Given the description of an element on the screen output the (x, y) to click on. 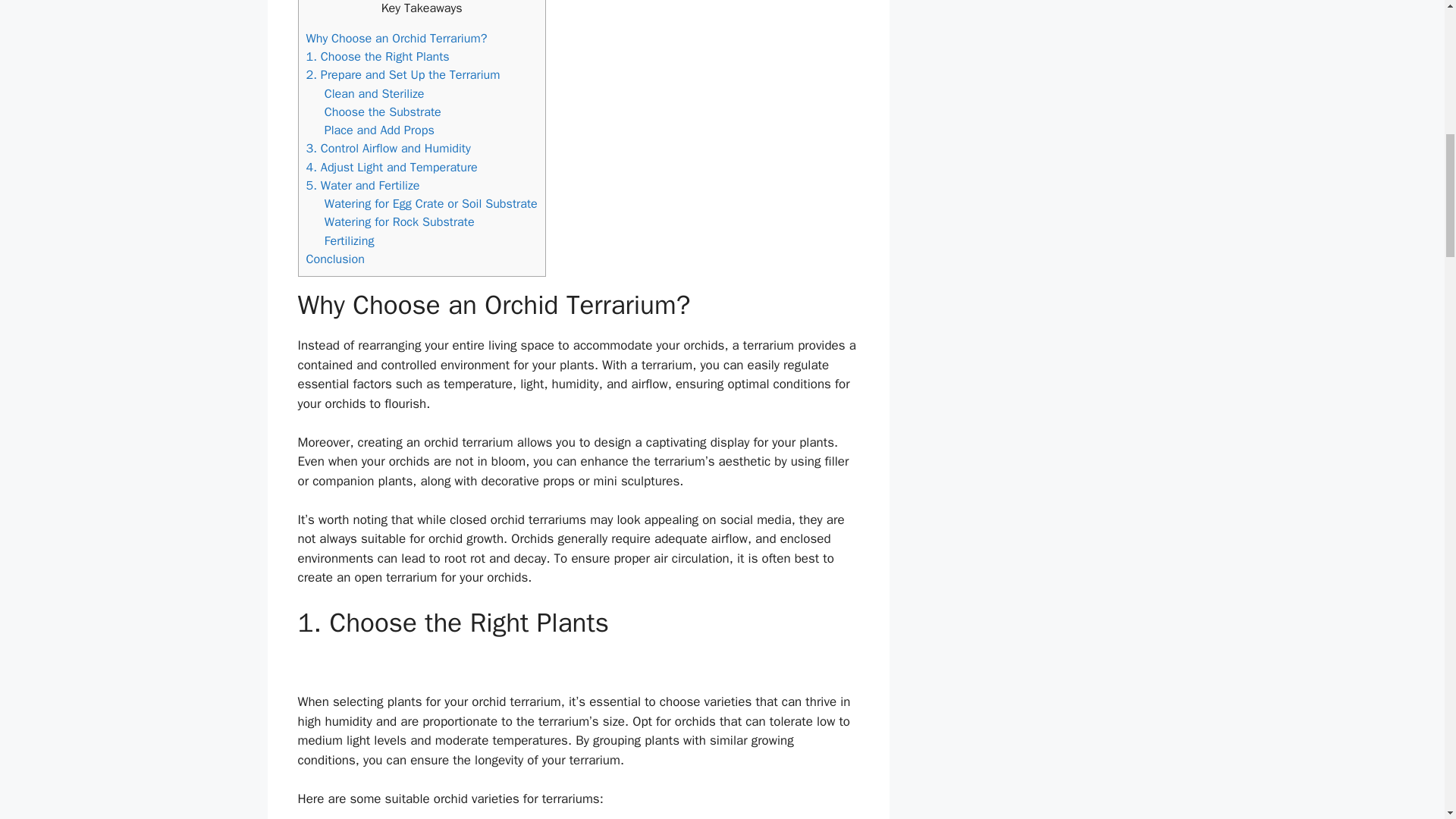
Watering for Rock Substrate (399, 221)
3. Control Airflow and Humidity (387, 148)
Watering for Egg Crate or Soil Substrate (430, 203)
5. Water and Fertilize (362, 185)
Clean and Sterilize (374, 93)
2. Prepare and Set Up the Terrarium (402, 74)
Place and Add Props (378, 130)
1. Choose the Right Plants (377, 56)
Choose the Substrate (382, 111)
Fertilizing (349, 240)
